Given the description of an element on the screen output the (x, y) to click on. 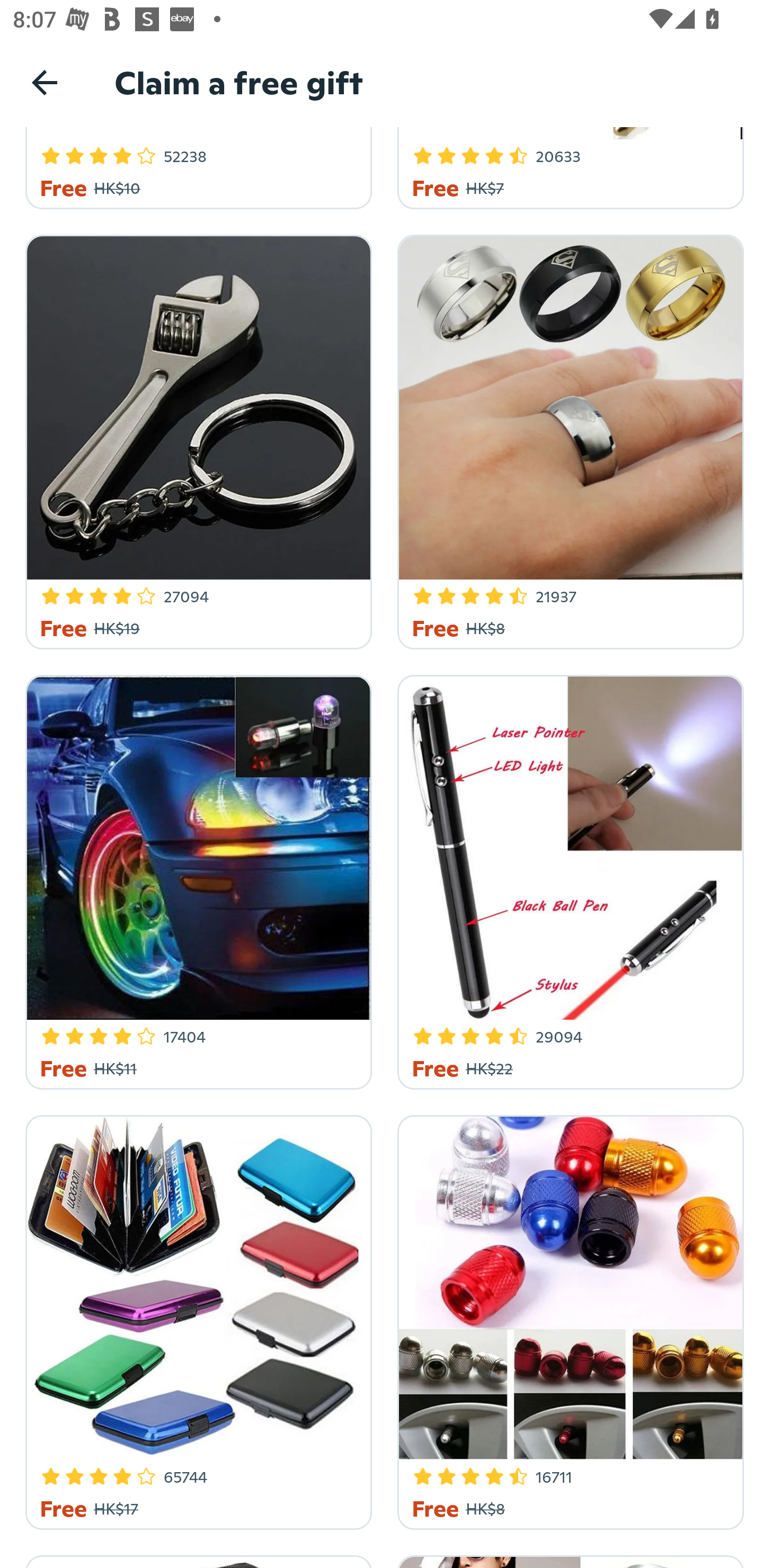
Navigate up (44, 82)
4.2 Star Rating 52238 Free HK$10 (195, 167)
4.3 Star Rating 20633 Free HK$7 (566, 167)
4 Star Rating 27094 Free HK$19 (195, 438)
4.3 Star Rating 21937 Free HK$8 (566, 438)
3.8 Star Rating 17404 Free HK$11 (195, 878)
4.3 Star Rating 29094 Free HK$22 (566, 878)
3.9 Star Rating 65744 Free HK$17 (195, 1319)
4.5 Star Rating 16711 Free HK$8 (566, 1319)
